Given the description of an element on the screen output the (x, y) to click on. 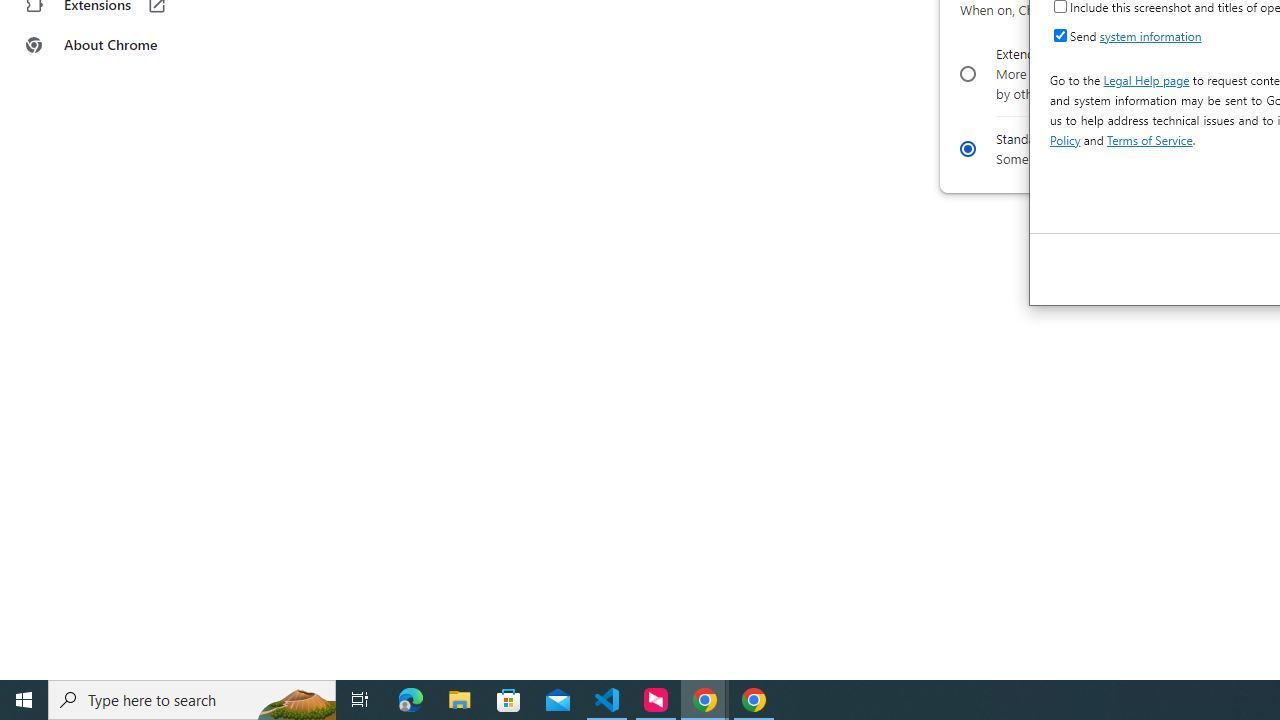
Visual Studio Code - 1 running window (607, 699)
Standard preloading (966, 147)
Microsoft Store (509, 699)
Extended preloading (966, 74)
Type here to search (191, 699)
